Given the description of an element on the screen output the (x, y) to click on. 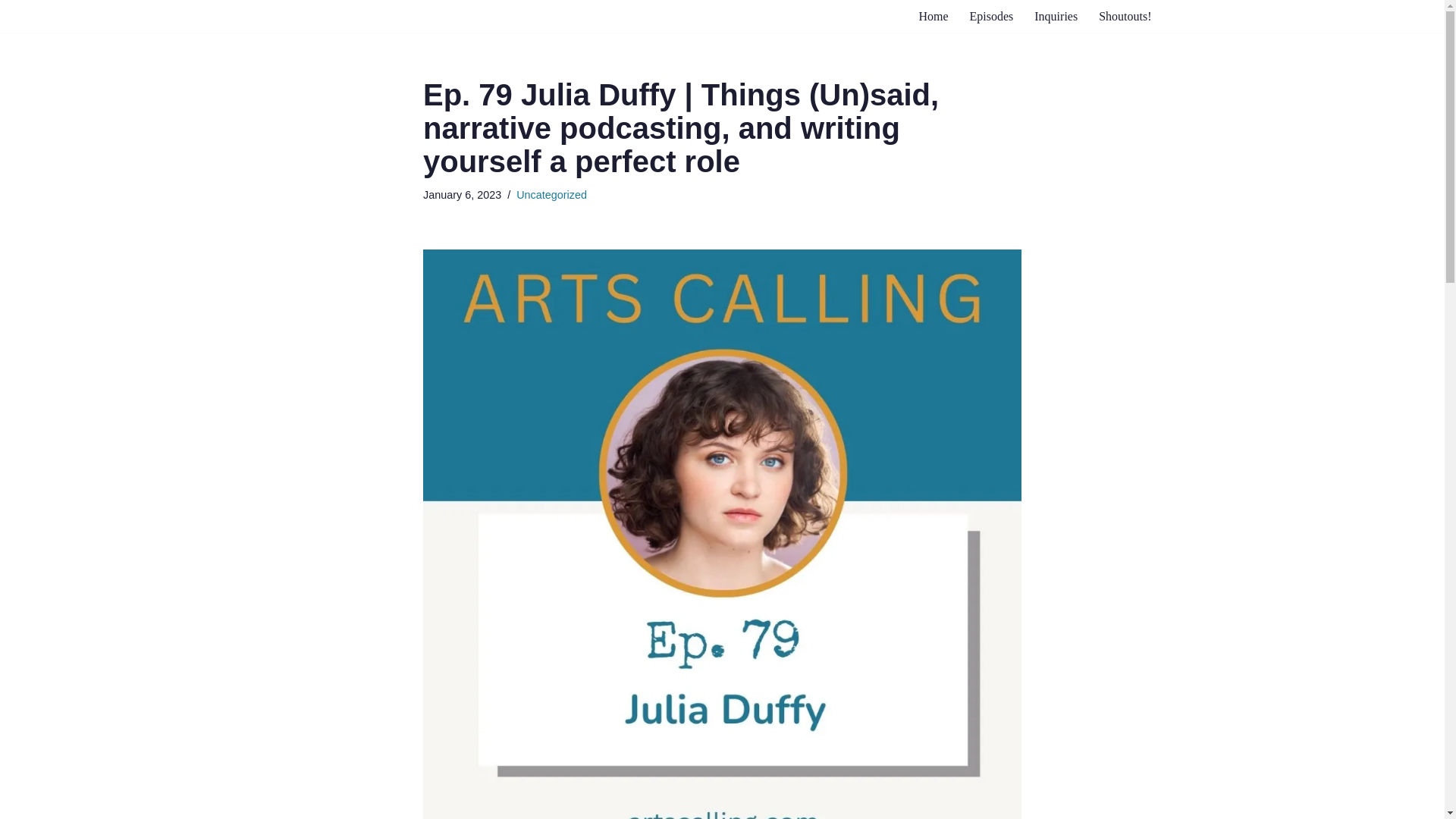
Inquiries (1055, 15)
Episodes (991, 15)
Skip to content (11, 31)
Uncategorized (551, 194)
Home (932, 15)
Shoutouts! (1125, 15)
